Given the description of an element on the screen output the (x, y) to click on. 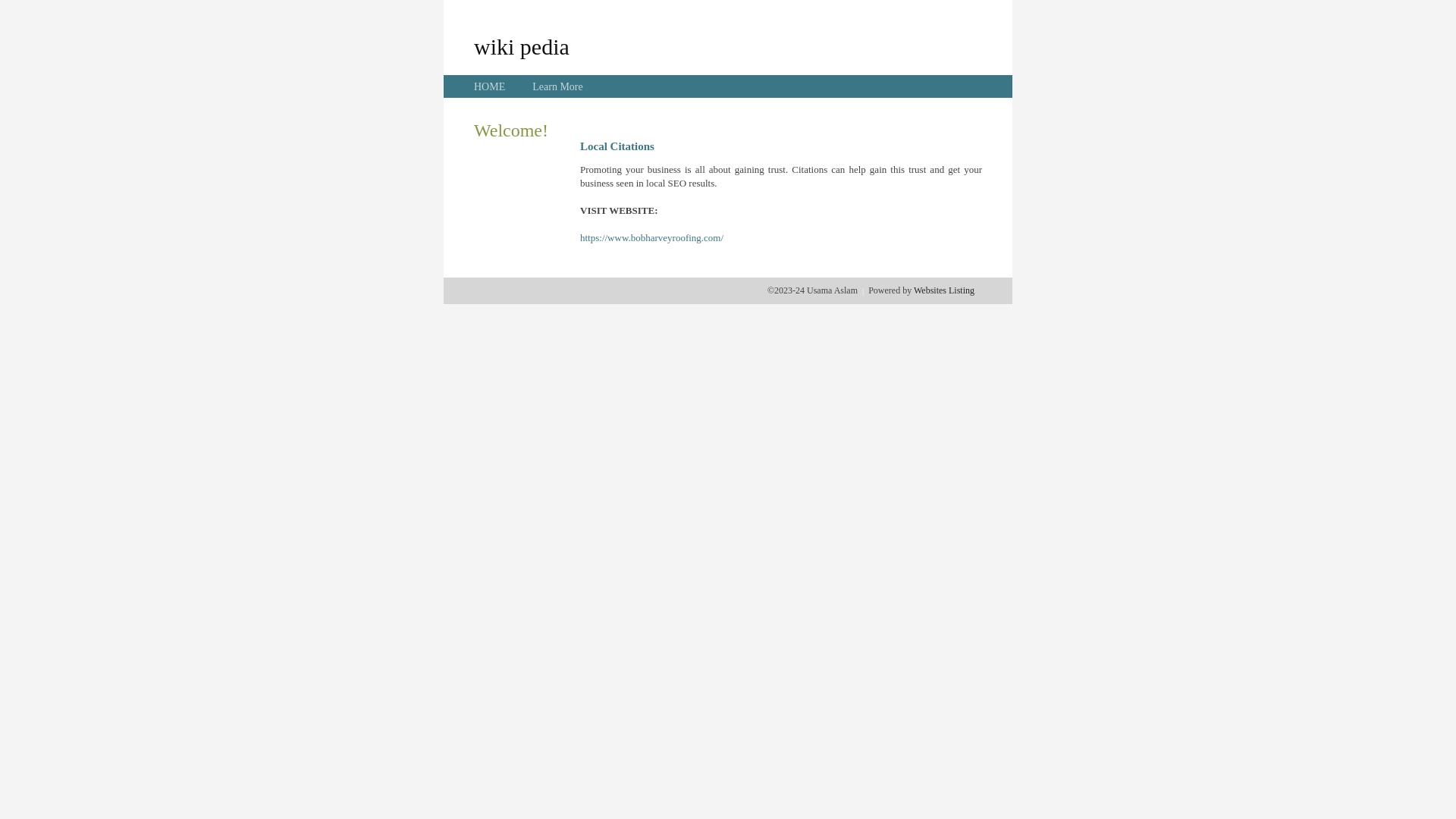
wiki pedia Element type: text (521, 46)
https://www.bobharveyroofing.com/ Element type: text (651, 237)
HOME Element type: text (489, 86)
Websites Listing Element type: text (943, 290)
Learn More Element type: text (557, 86)
